Given the description of an element on the screen output the (x, y) to click on. 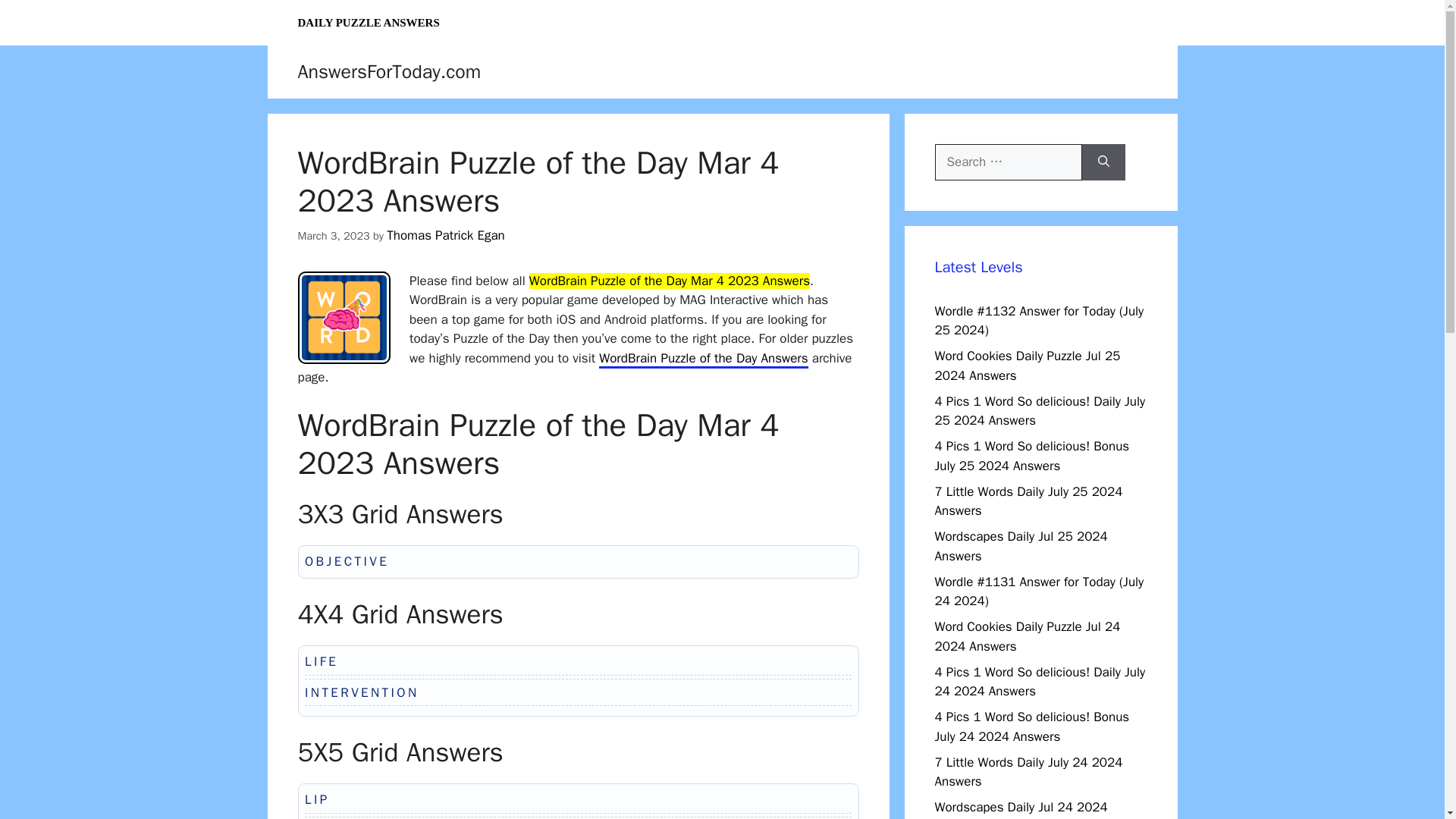
Search for: (1007, 162)
DAILY PUZZLE ANSWERS (368, 22)
4 Pics 1 Word So delicious! Daily July 24 2024 Answers (1039, 682)
WordBrain Puzzle of the Day Answers (703, 359)
4 Pics 1 Word So delicious! Bonus July 24 2024 Answers (1031, 726)
Wordscapes Daily Jul 24 2024 Answers (1020, 809)
4 Pics 1 Word So delicious! Daily July 25 2024 Answers (1039, 410)
View all posts by Thomas Patrick Egan (446, 235)
Wordscapes Daily Jul 25 2024 Answers (1020, 546)
4 Pics 1 Word So delicious! Bonus July 25 2024 Answers (1031, 456)
7 Little Words Daily July 24 2024 Answers (1028, 771)
AnswersForToday.com (388, 71)
Thomas Patrick Egan (446, 235)
Word Cookies Daily Puzzle Jul 25 2024 Answers (1026, 366)
Word Cookies Daily Puzzle Jul 24 2024 Answers (1026, 636)
